Given the description of an element on the screen output the (x, y) to click on. 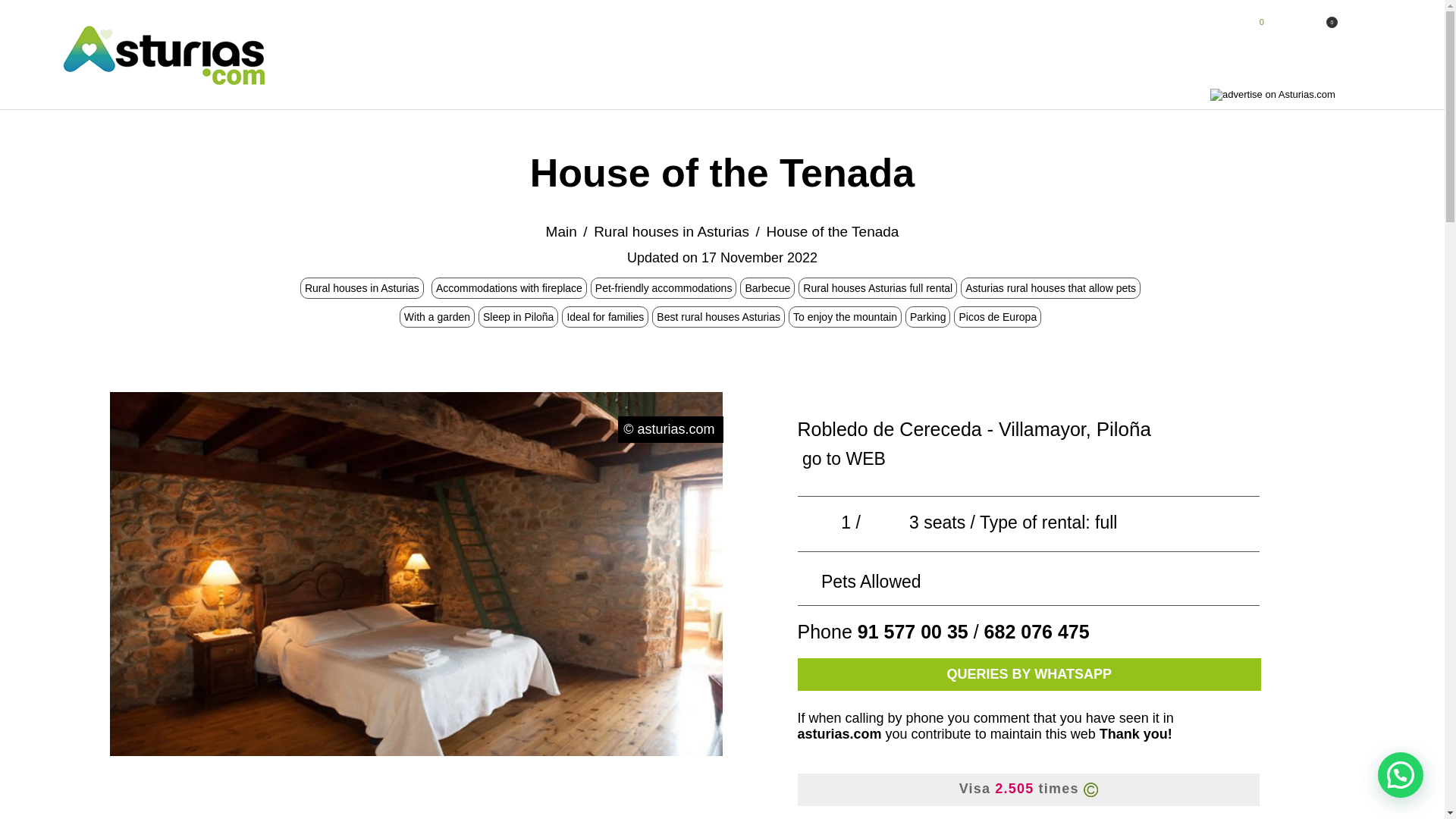
go to Ideal for families (604, 316)
go to Best rural houses Asturias (718, 316)
go to Rural houses Asturias that allow pets (1050, 287)
go to To enjoy the mountain (844, 316)
go to Accommodations with fireplace (508, 287)
go to with garden (437, 316)
go to rural houses Asturias full rent (877, 287)
go to Accommodations that allow pets (663, 287)
go to Rural houses in Asturias (361, 287)
go to barbecue (767, 287)
